Given the description of an element on the screen output the (x, y) to click on. 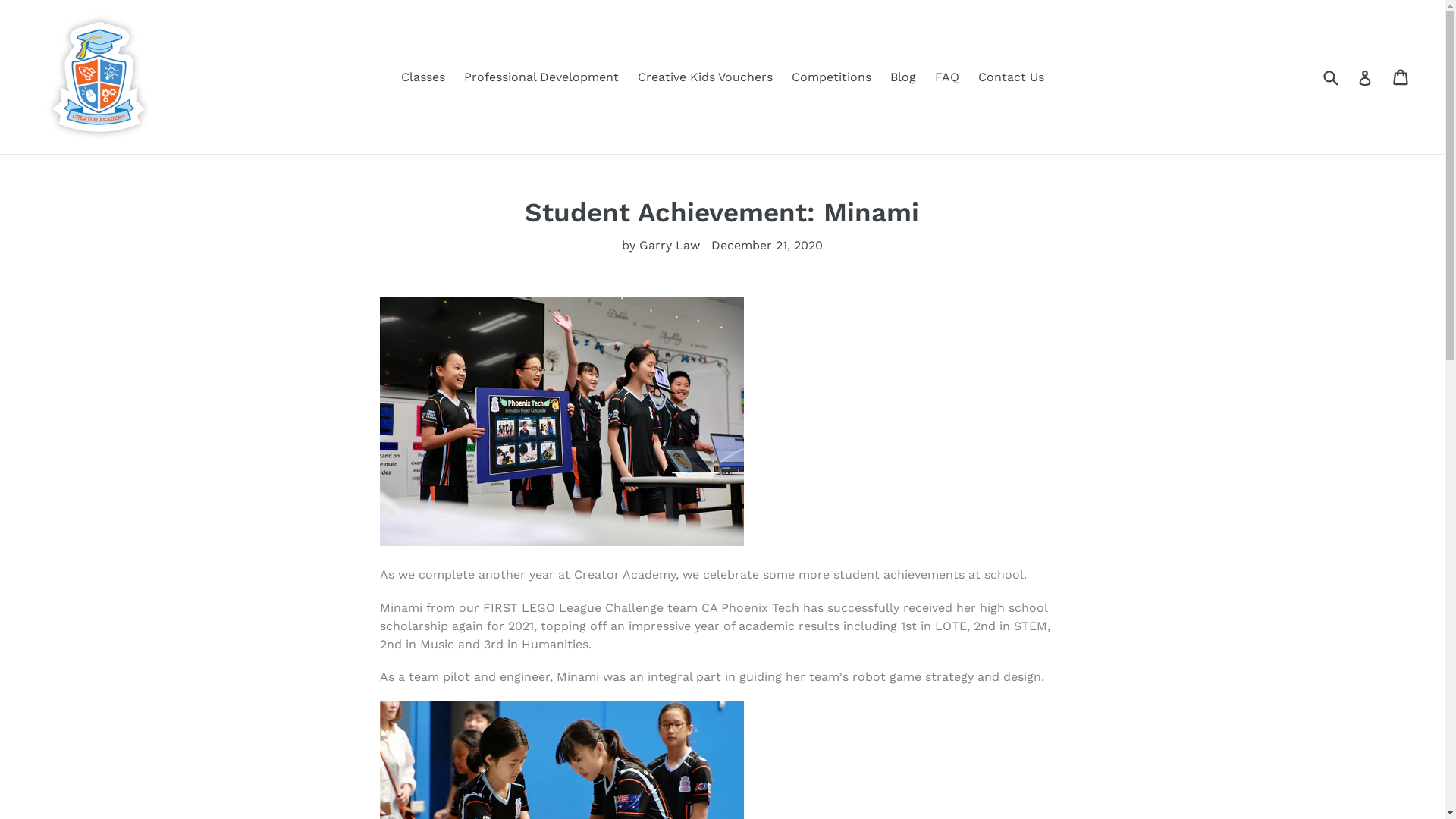
Competitions Element type: text (831, 76)
Submit Element type: text (1329, 76)
Cart
Cart Element type: text (1401, 76)
Classes Element type: text (421, 76)
Blog Element type: text (902, 76)
FAQ Element type: text (946, 76)
Log in Element type: text (1364, 77)
Professional Development Element type: text (541, 76)
Contact Us Element type: text (1010, 76)
Creative Kids Vouchers Element type: text (704, 76)
